Given the description of an element on the screen output the (x, y) to click on. 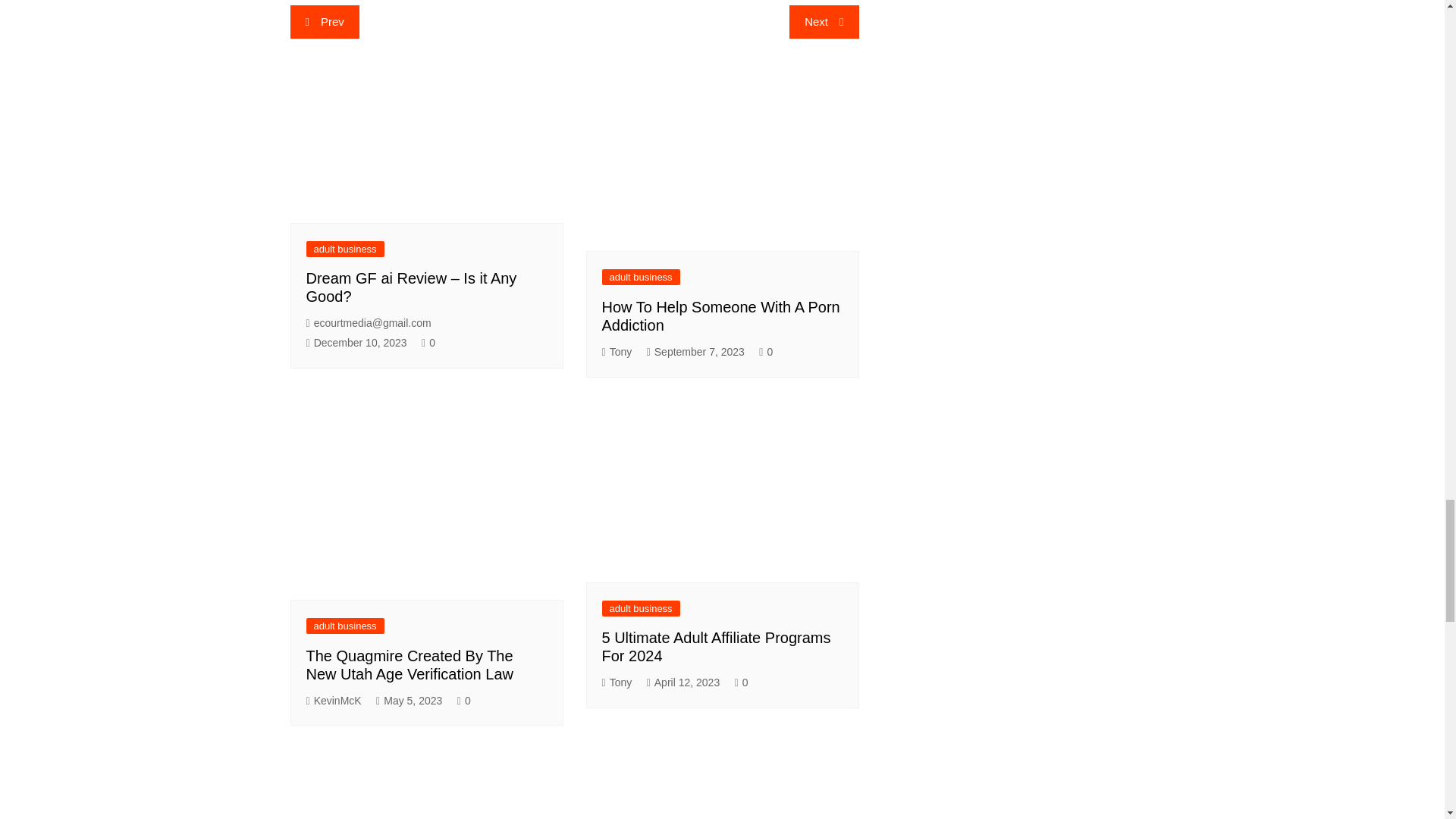
Next (824, 21)
December 10, 2023 (356, 343)
adult business (344, 248)
Prev (323, 21)
adult business (640, 277)
